Given the description of an element on the screen output the (x, y) to click on. 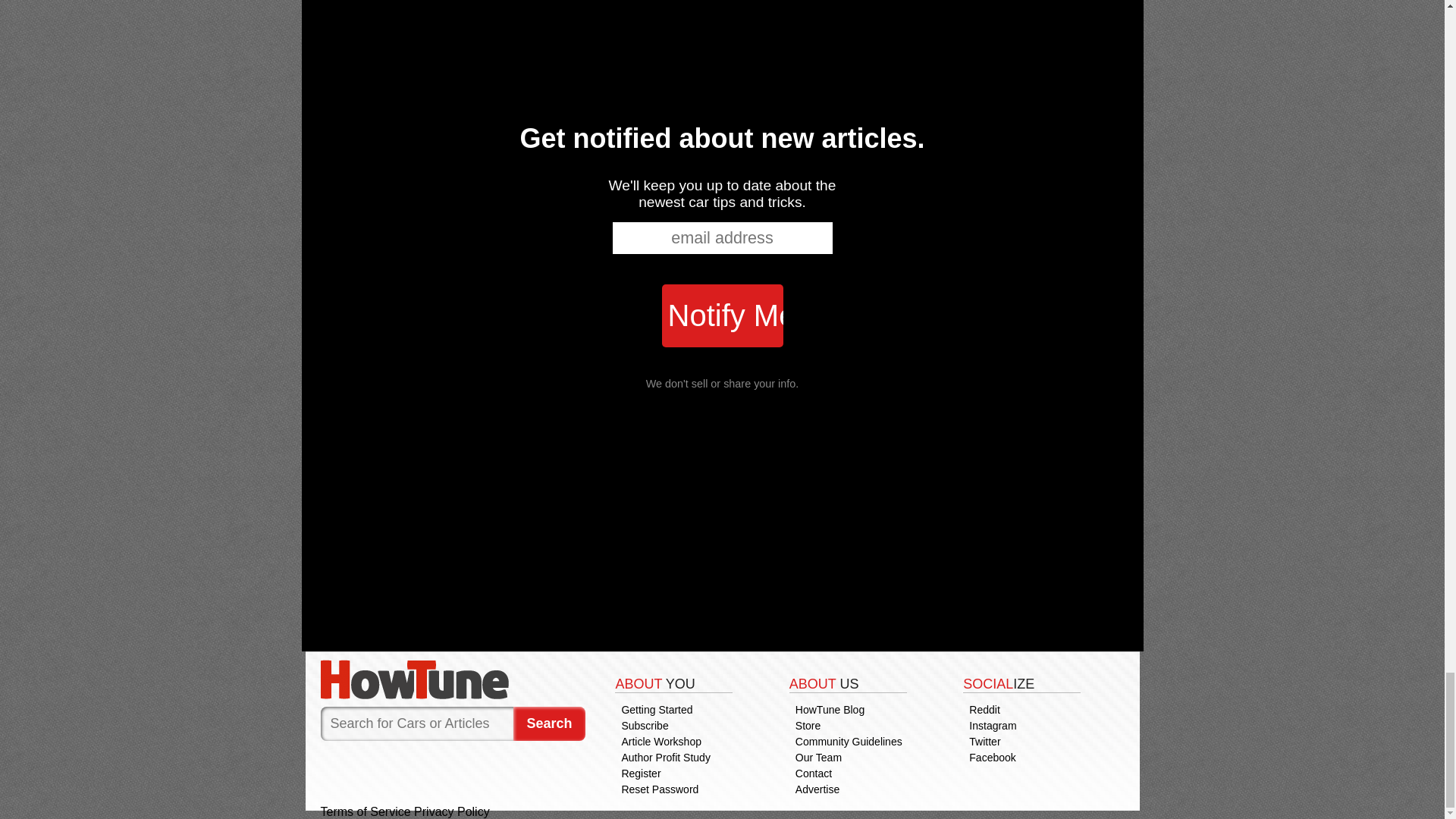
Home (452, 679)
Notify Me (722, 315)
Search (549, 723)
